Given the description of an element on the screen output the (x, y) to click on. 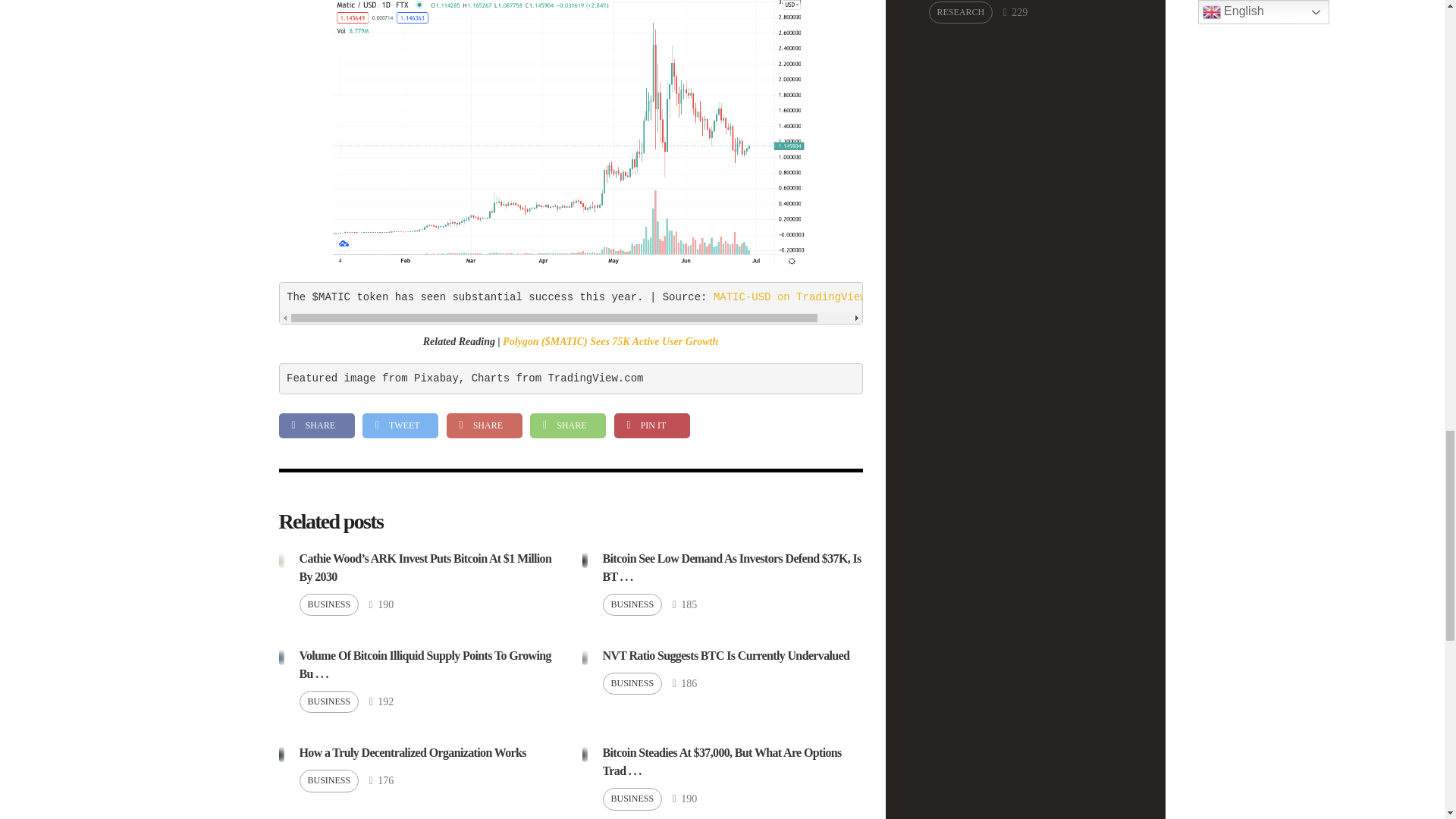
MATIC-USD on TradingView.com (802, 297)
SHARE (483, 425)
SHARE (567, 425)
SHARE (317, 425)
TWEET (400, 425)
